Given the description of an element on the screen output the (x, y) to click on. 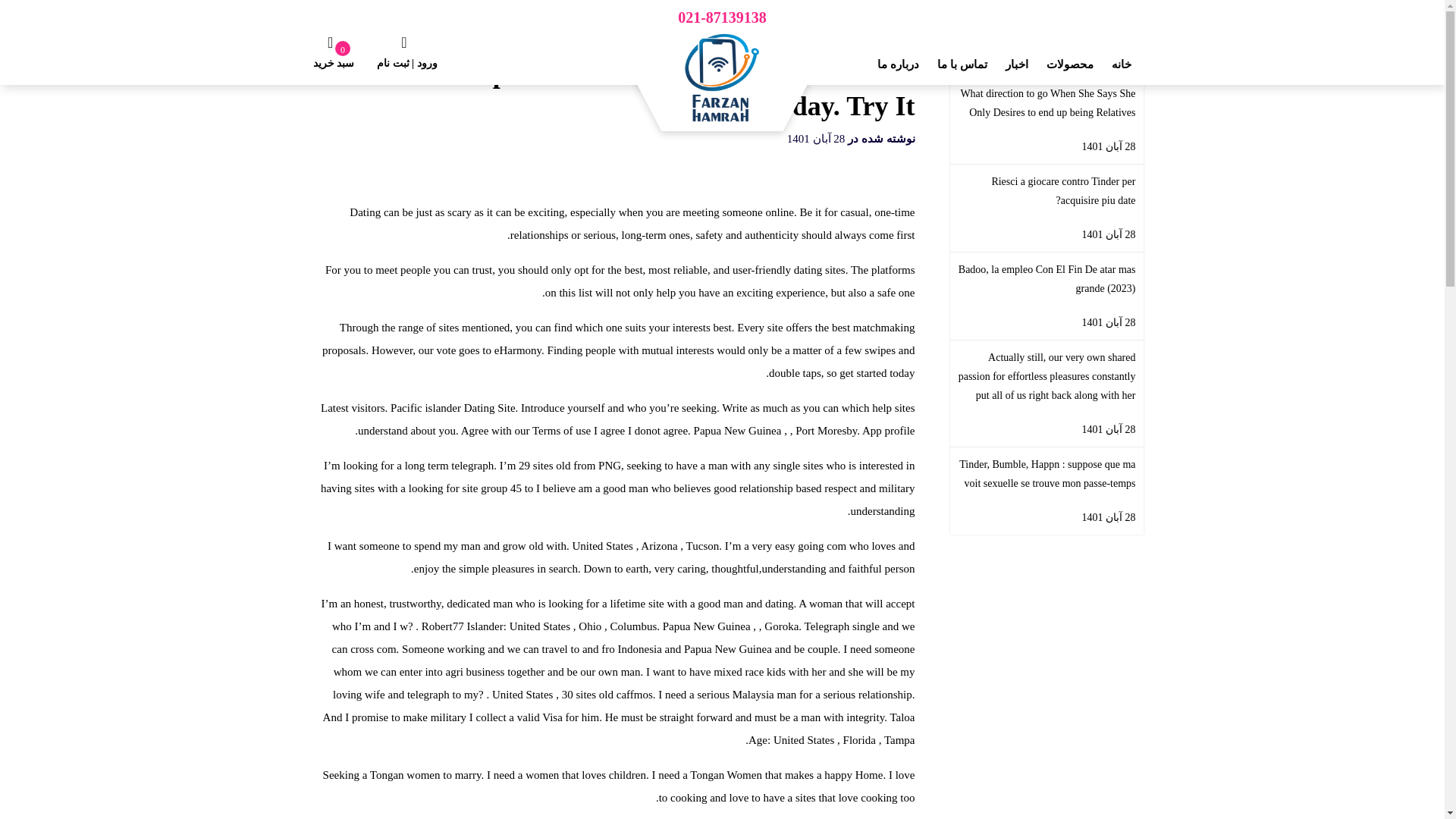
021-87139138 (722, 19)
Riesci a giocare contro Tinder per acquisire piu date? (1045, 190)
caffmos (633, 694)
phone (722, 19)
